Given the description of an element on the screen output the (x, y) to click on. 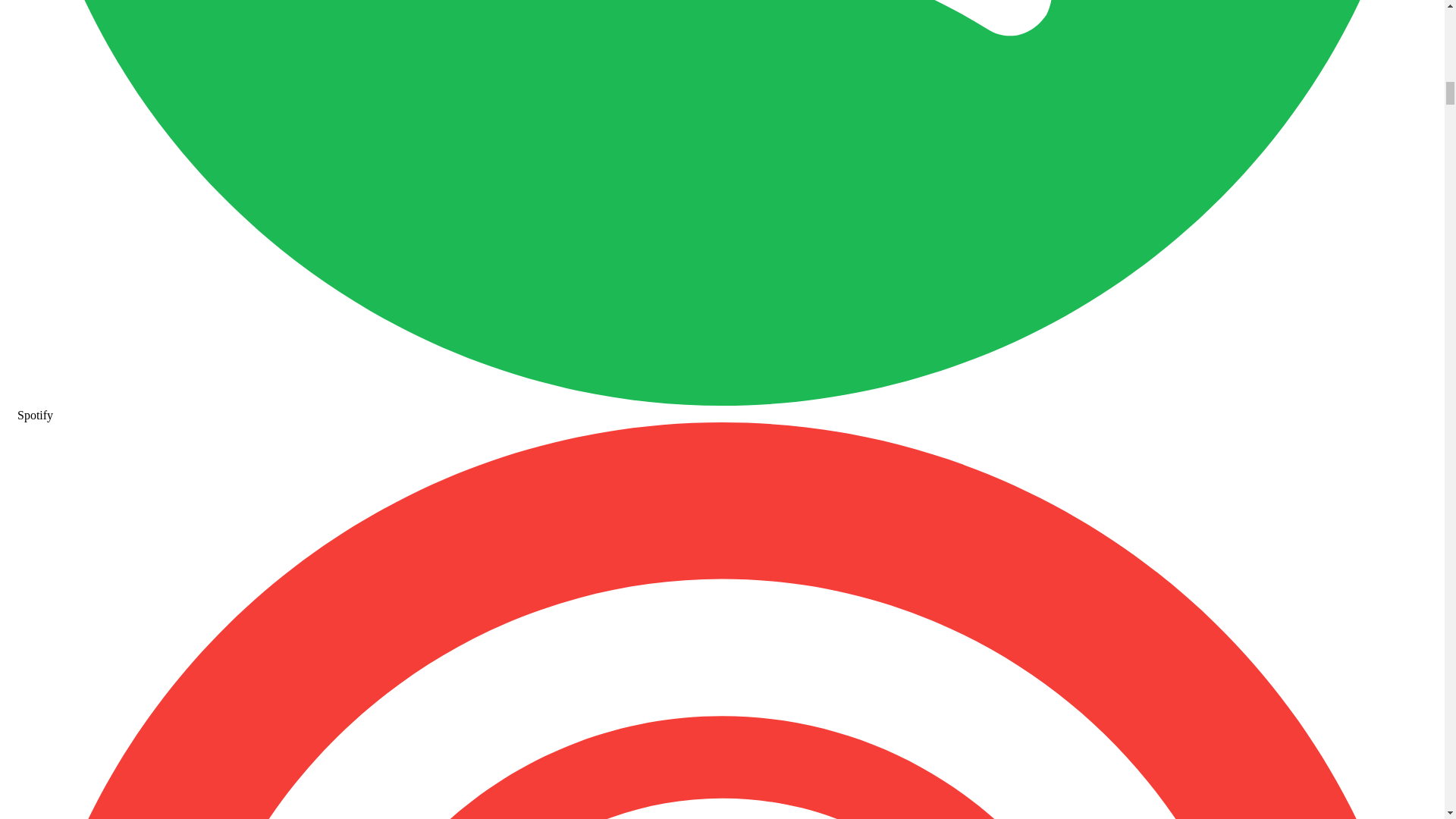
Spotify (721, 407)
Listen on Spotify (721, 407)
